Given the description of an element on the screen output the (x, y) to click on. 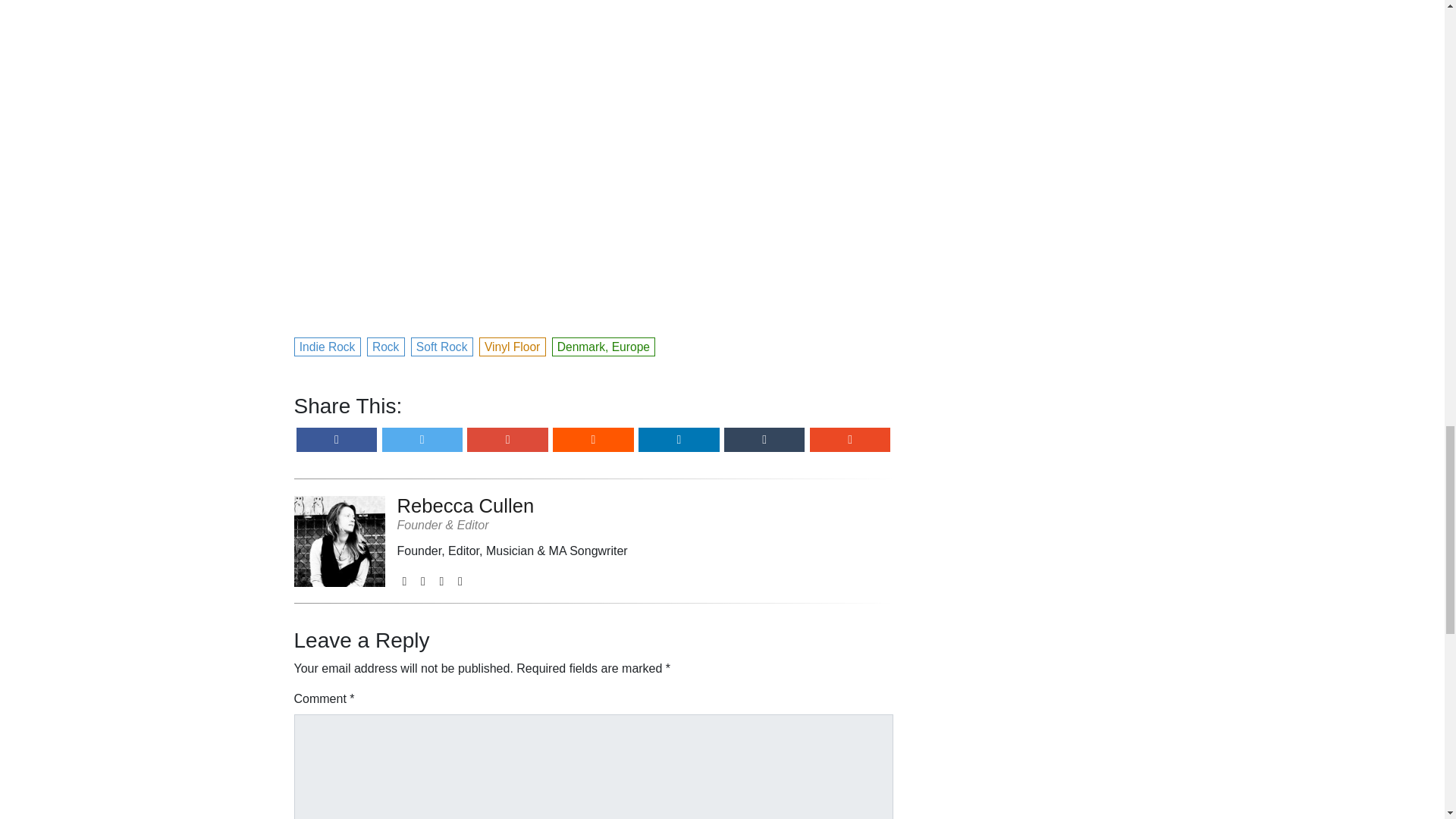
Soft Rock (442, 344)
Rebecca Cullen (512, 505)
Vinyl Floor (513, 344)
Indie Rock (328, 344)
Denmark, Europe (603, 344)
Rock (386, 344)
